Given the description of an element on the screen output the (x, y) to click on. 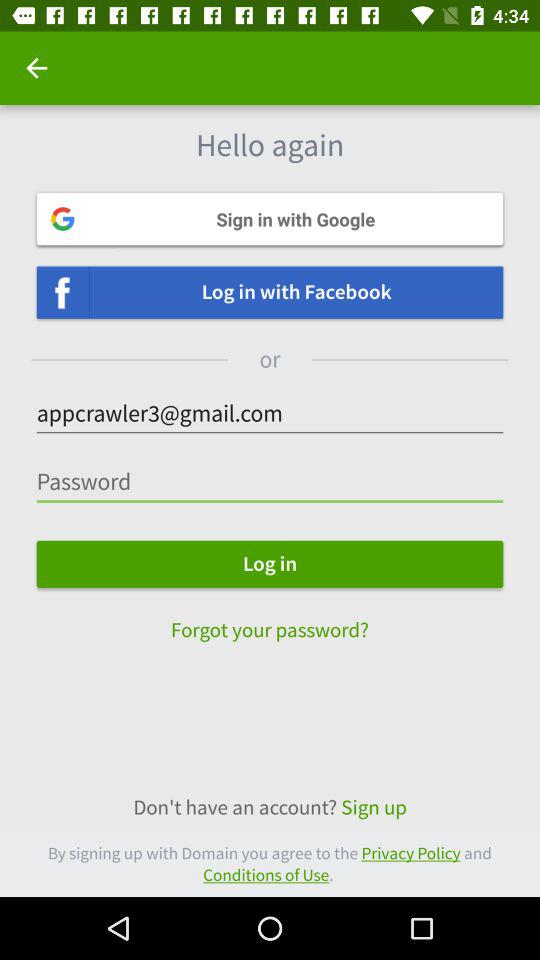
launch icon at the top left corner (36, 68)
